Given the description of an element on the screen output the (x, y) to click on. 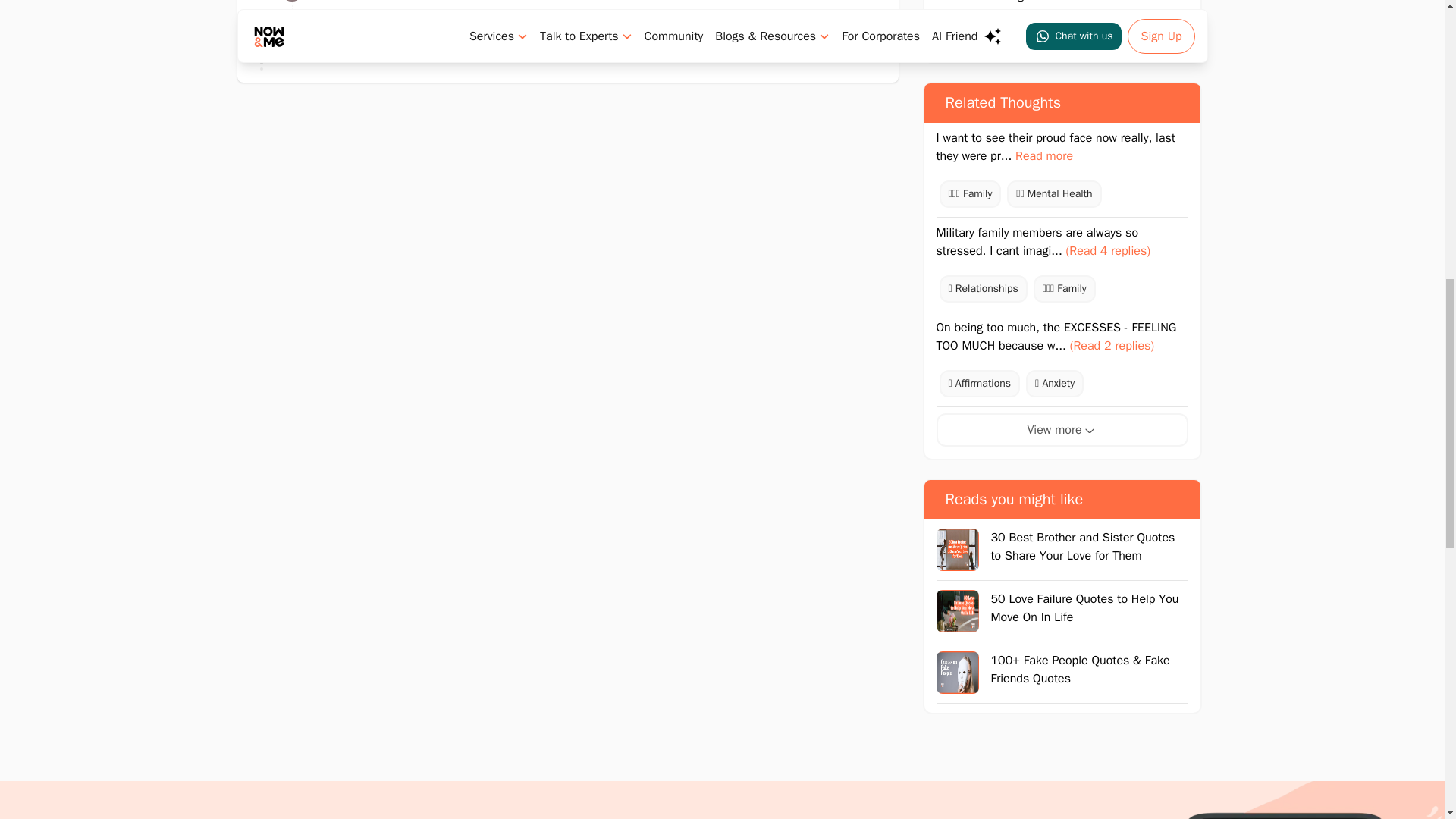
Share on WhatsApp (952, 32)
Share on Twitter (1006, 32)
Share on Twitter (1115, 32)
Share on Twitter (1061, 32)
